Given the description of an element on the screen output the (x, y) to click on. 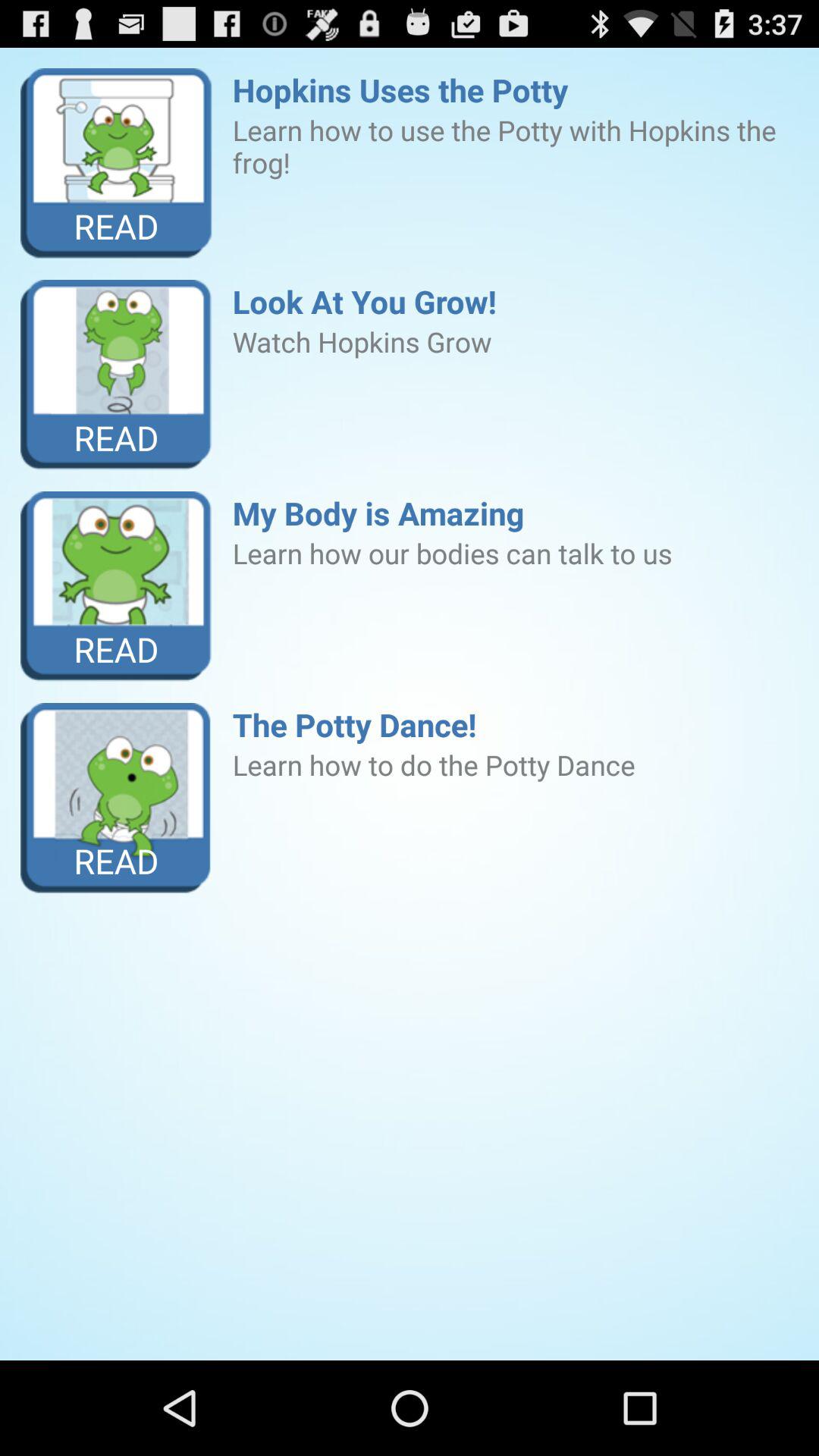
press the item next to the the potty dance! item (116, 798)
